Given the description of an element on the screen output the (x, y) to click on. 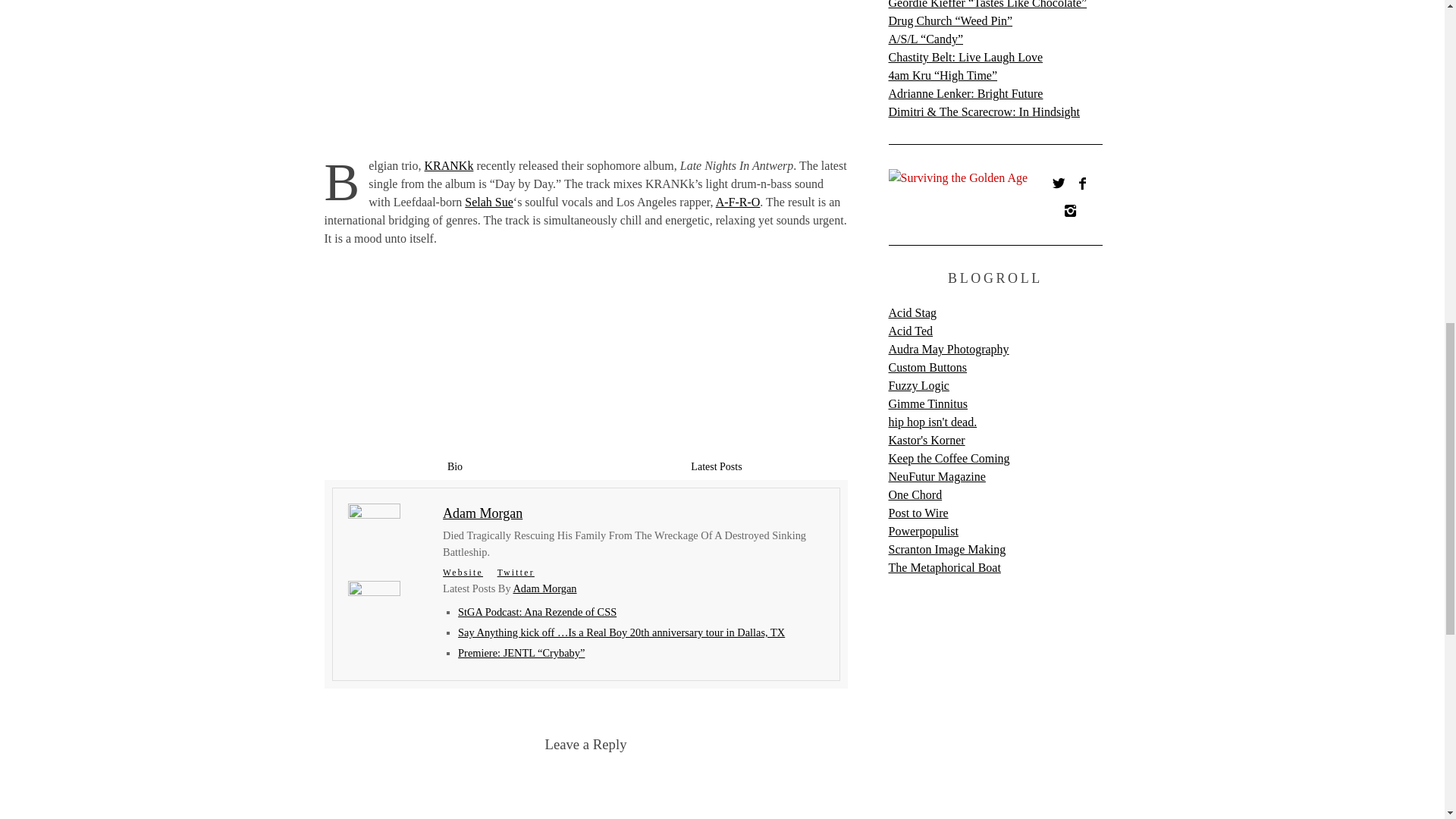
Adam Morgan (544, 588)
Comment Form (585, 790)
Bio (455, 466)
Twitter (515, 572)
StGA Podcast: Ana Rezende of CSS (536, 612)
KRANKk (449, 164)
Adam Morgan (482, 513)
Latest Posts (716, 466)
Website (462, 572)
Selah Sue (488, 201)
